Given the description of an element on the screen output the (x, y) to click on. 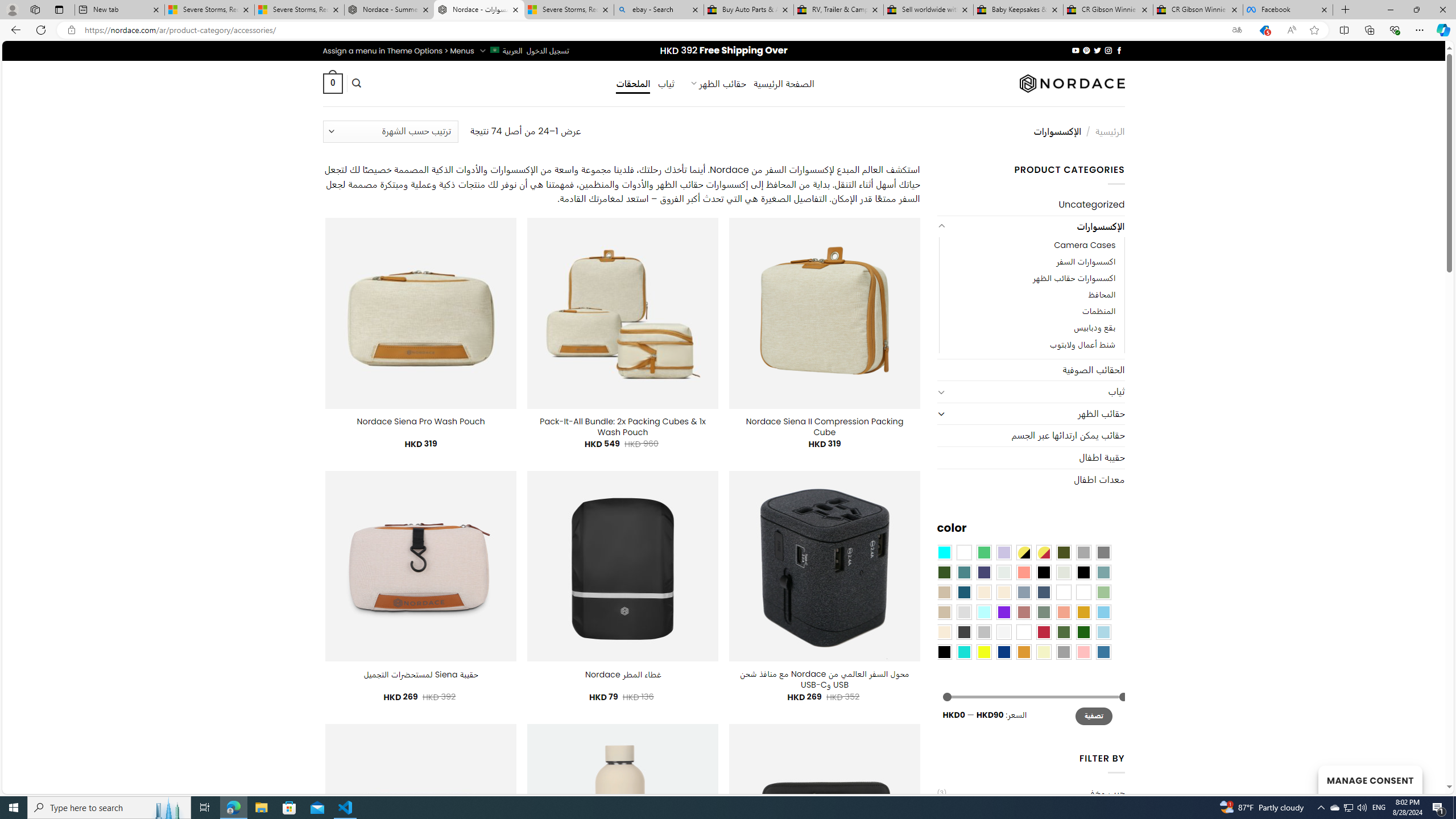
Settings and more (Alt+F) (1419, 29)
All Black (1043, 572)
Yellow-Black (1023, 551)
Split screen (1344, 29)
Caramel (983, 591)
Follow on Twitter (1096, 50)
